Given the description of an element on the screen output the (x, y) to click on. 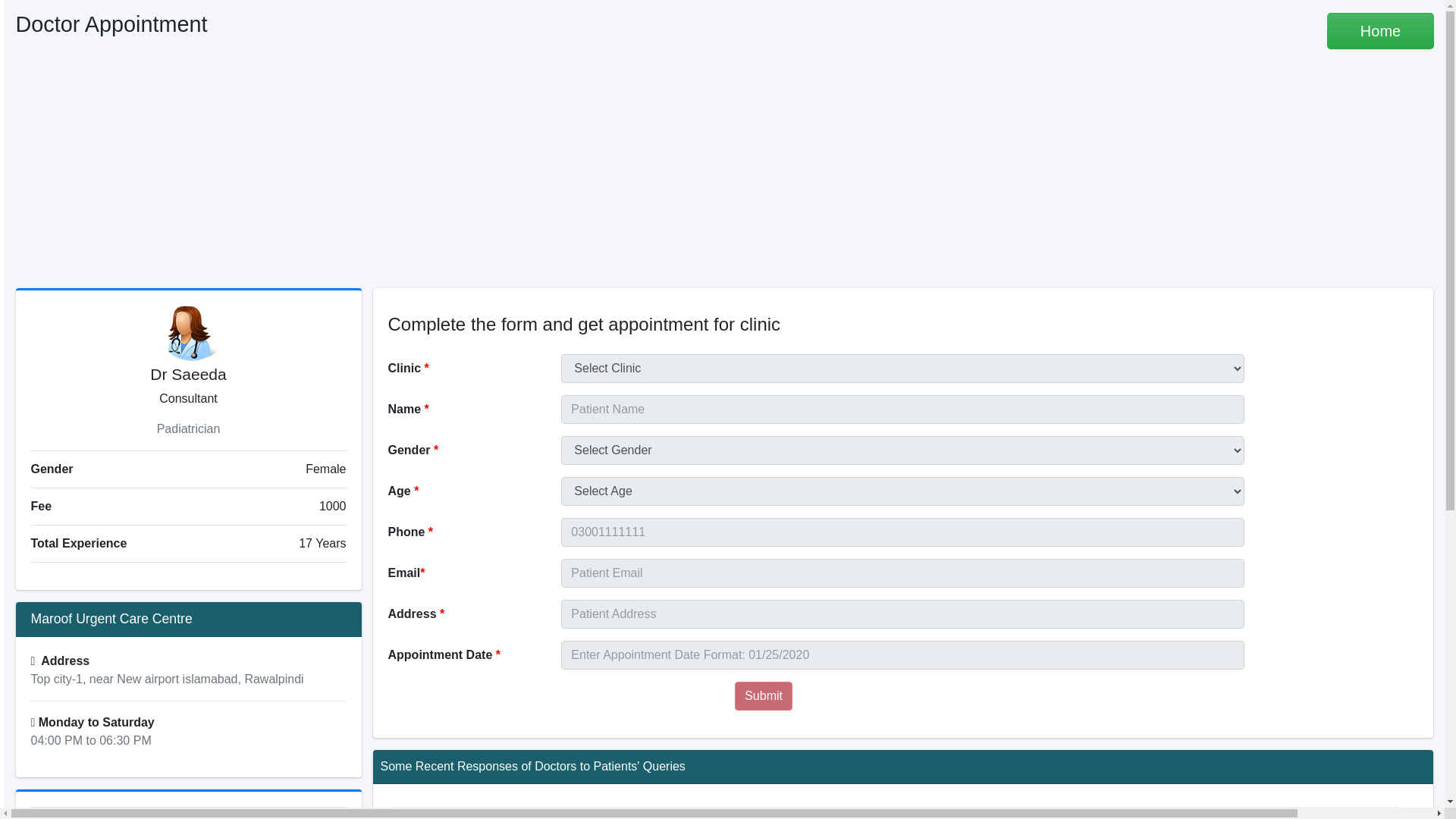
Submit (763, 695)
Dr Saeeda (187, 333)
Home (1380, 31)
